Given the description of an element on the screen output the (x, y) to click on. 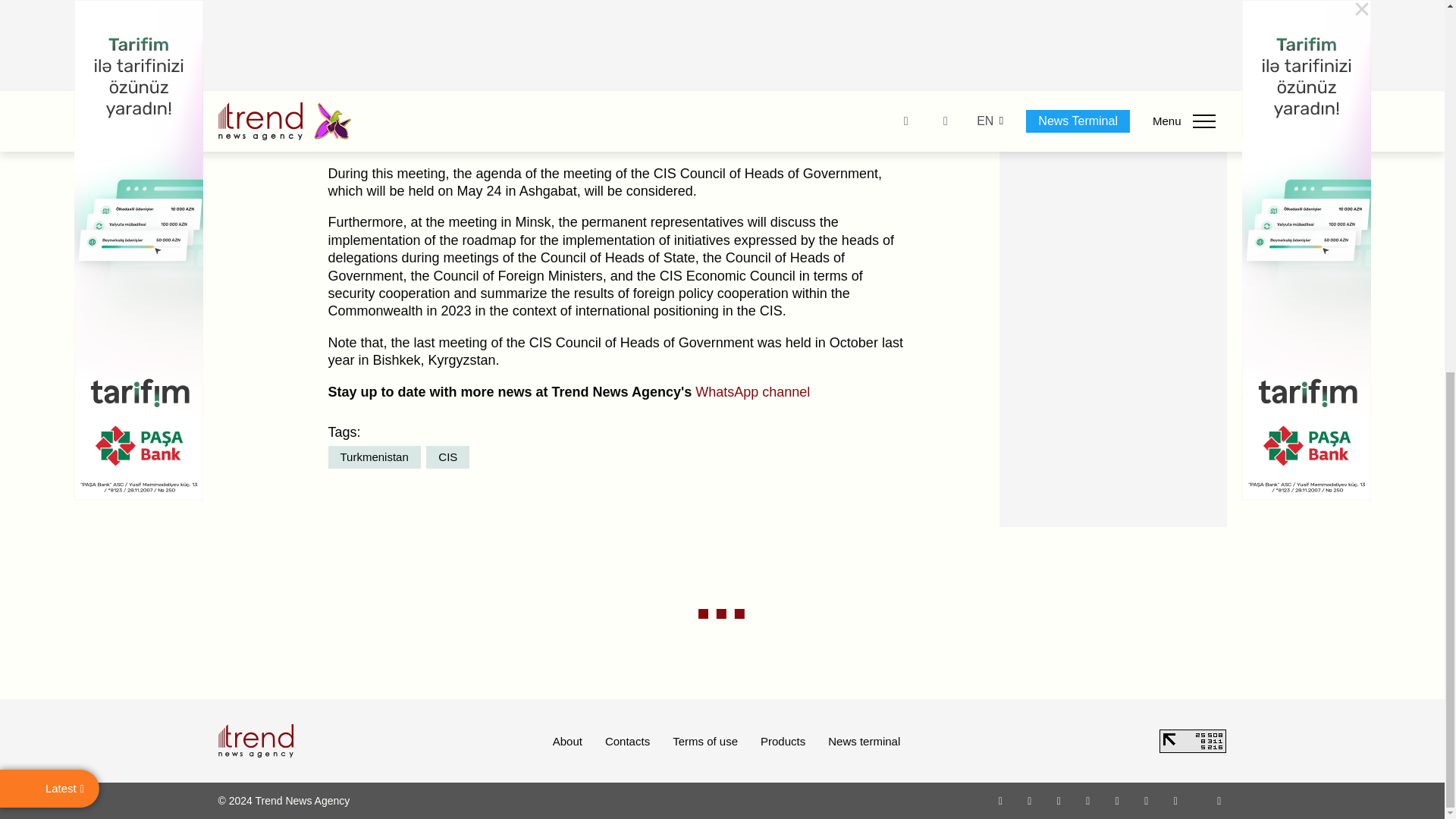
Youtube (1088, 800)
Facebook (1029, 800)
Whatsapp (1000, 800)
RSS Feed (1219, 800)
Twitter (1059, 800)
LinkedIn (1146, 800)
Telegram (1117, 800)
Android App (1176, 800)
